Given the description of an element on the screen output the (x, y) to click on. 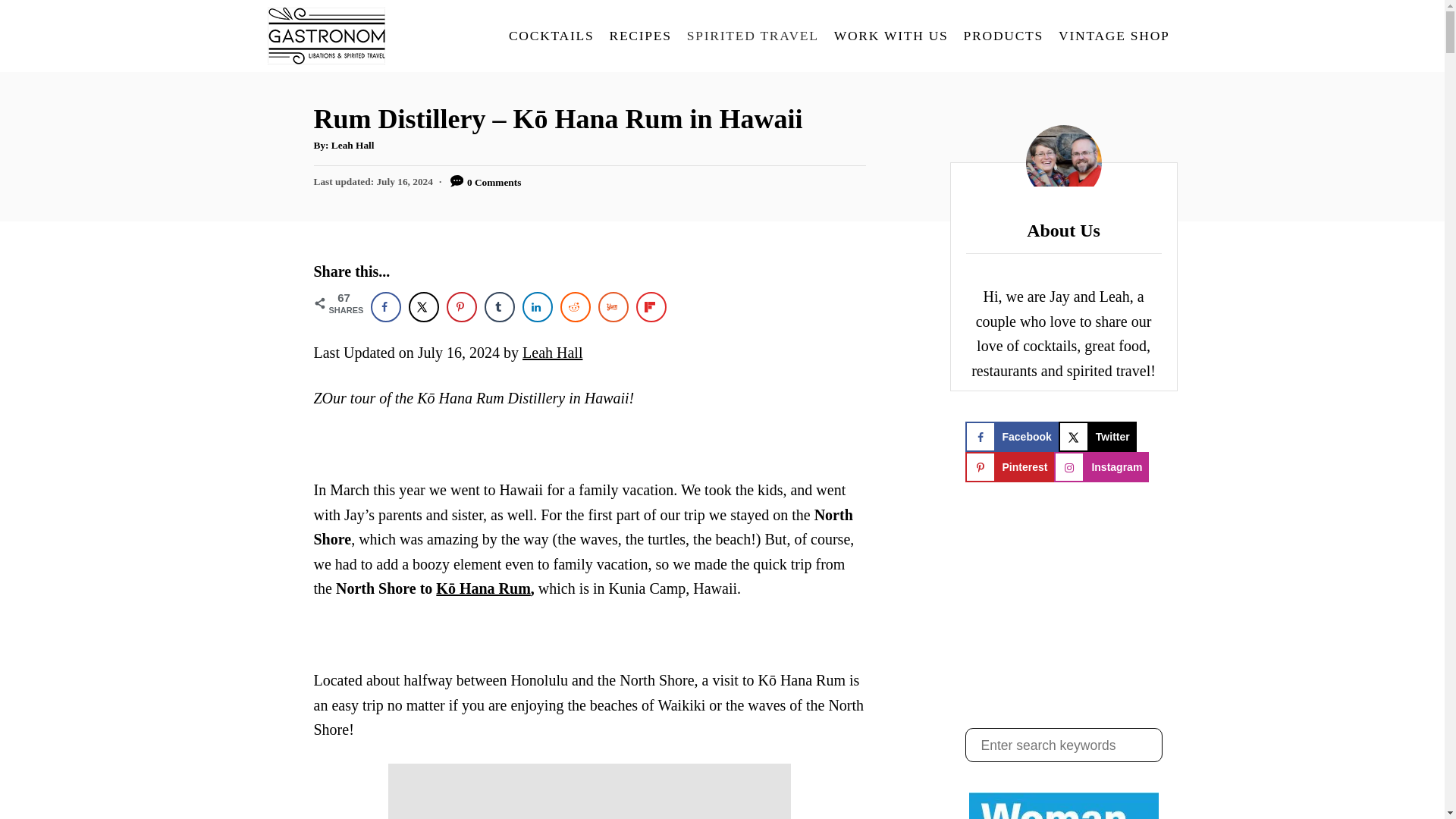
Share on LinkedIn (536, 306)
SPIRITED TRAVEL (753, 36)
Gastronom Cocktails (381, 36)
Leah Hall (352, 144)
WORK WITH US (891, 36)
Save to Pinterest (460, 306)
Share on Tumblr (498, 306)
Share on Facebook (384, 306)
VINTAGE SHOP (1113, 36)
Share on Flipboard (649, 306)
